Given the description of an element on the screen output the (x, y) to click on. 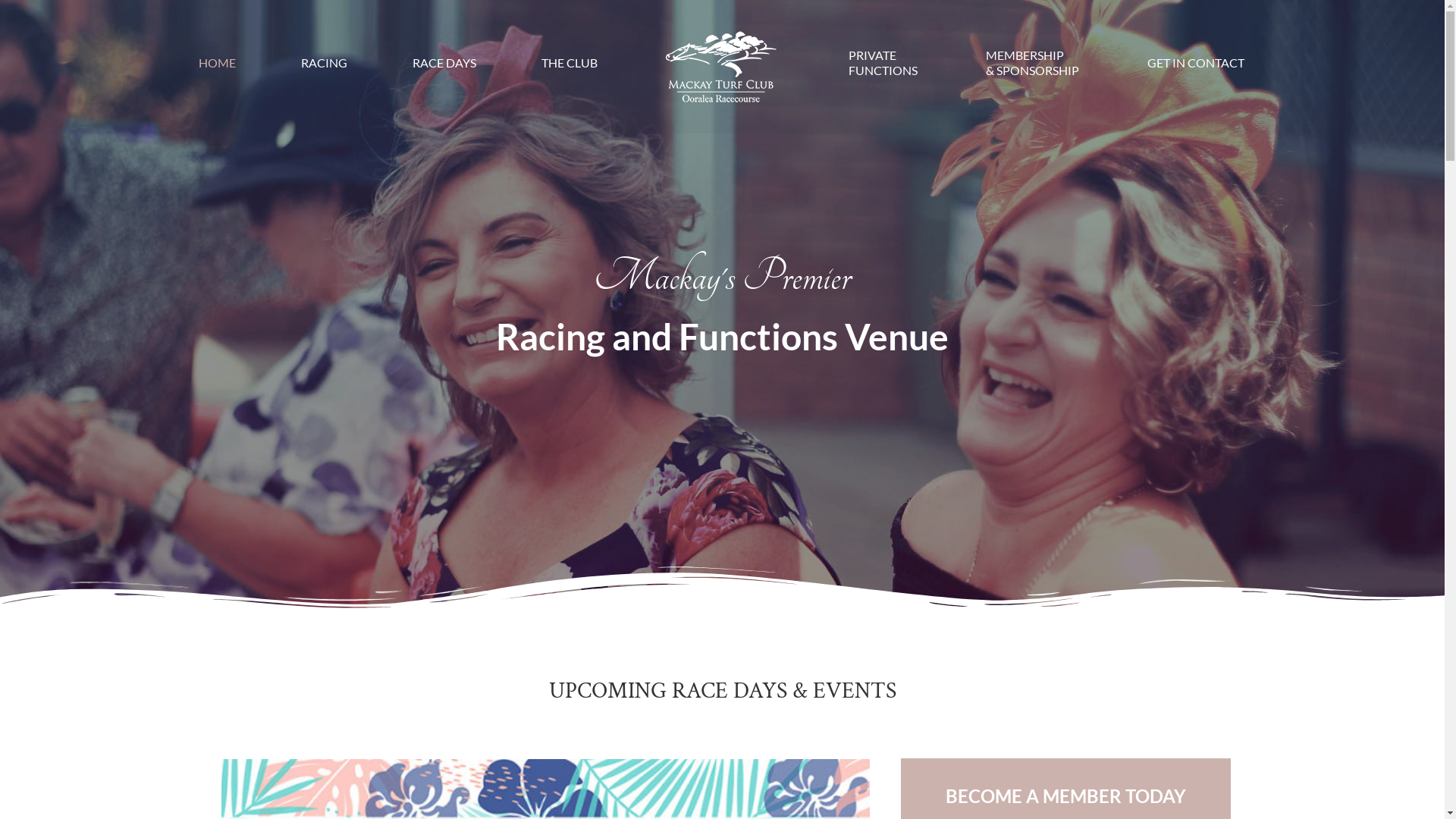
RACING Element type: text (324, 62)
HOME Element type: text (216, 62)
GET IN CONTACT Element type: text (1195, 62)
THE CLUB Element type: text (569, 62)
PRIVATE
FUNCTIONS Element type: text (883, 62)
RACE DAYS Element type: text (444, 62)
MEMBERSHIP
& SPONSORSHIP Element type: text (1032, 62)
